Given the description of an element on the screen output the (x, y) to click on. 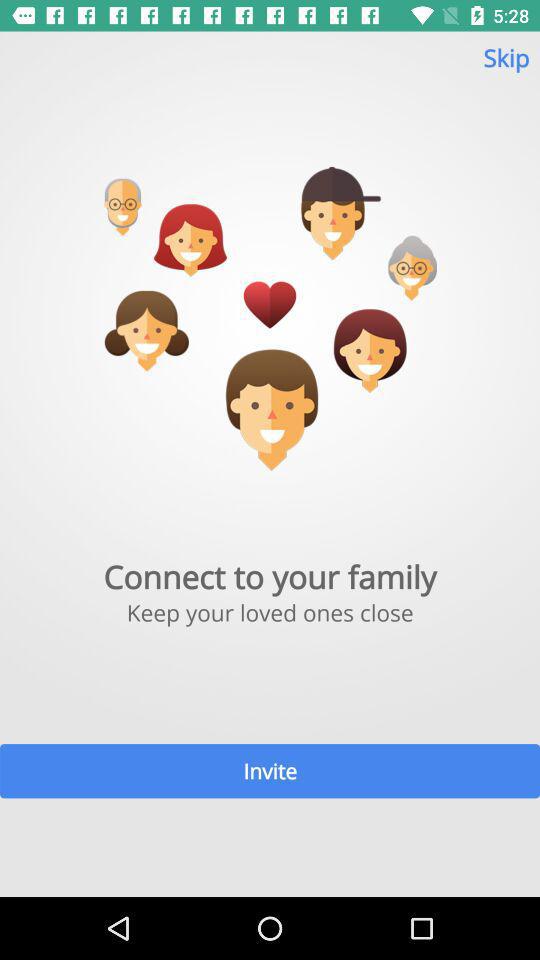
open item below keep your loved item (270, 770)
